Given the description of an element on the screen output the (x, y) to click on. 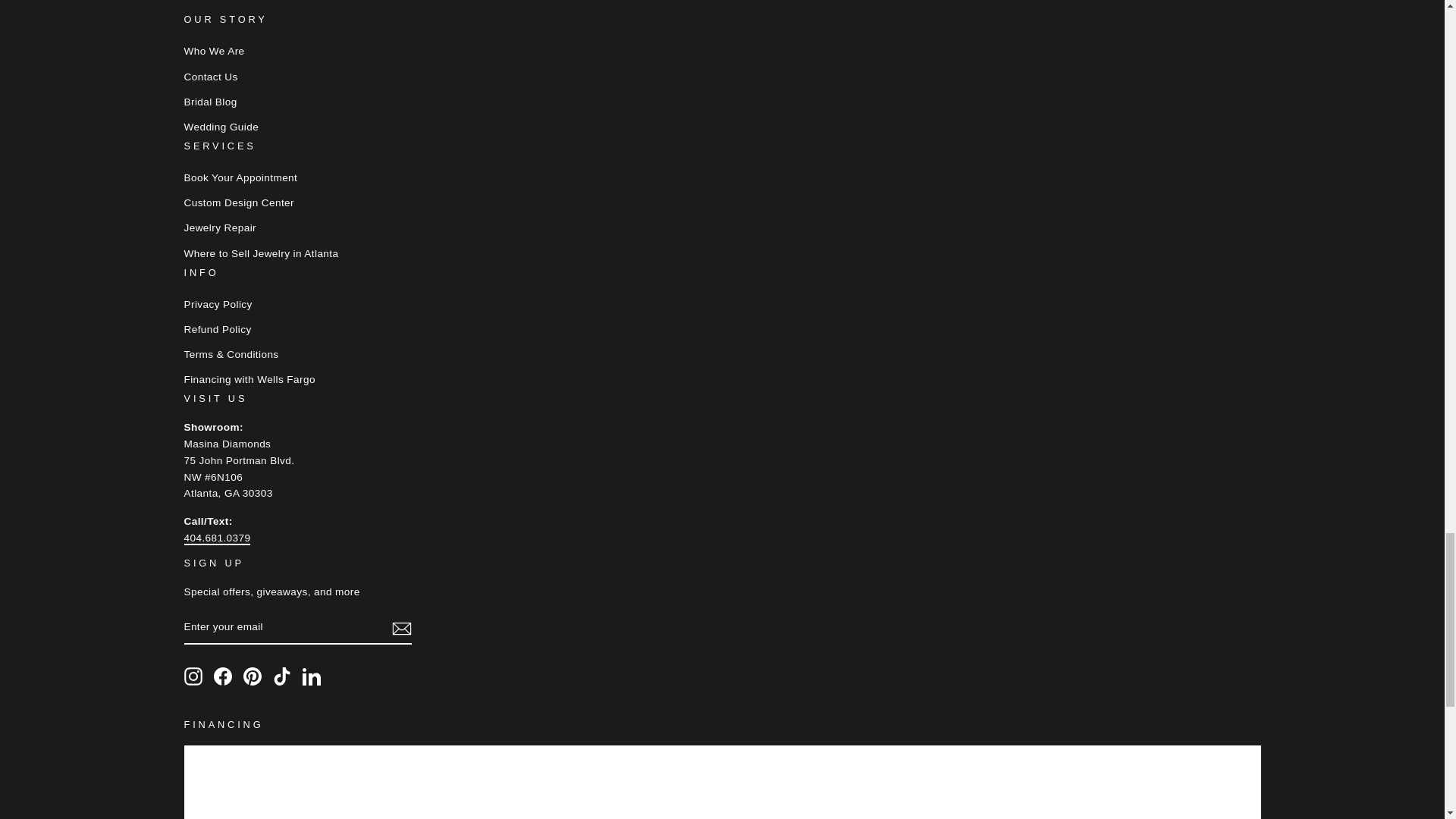
Masina Diamonds Atlanta on LinkedIn (310, 676)
Masina Diamonds Atlanta on TikTok (282, 676)
instagram (192, 676)
icon-email (400, 628)
Masina Diamonds Atlanta on Pinterest (251, 676)
Masina Diamonds Atlanta on Instagram (192, 676)
tel:404.681.0379 (216, 538)
Masina Diamonds Atlanta on Facebook (222, 676)
